Given the description of an element on the screen output the (x, y) to click on. 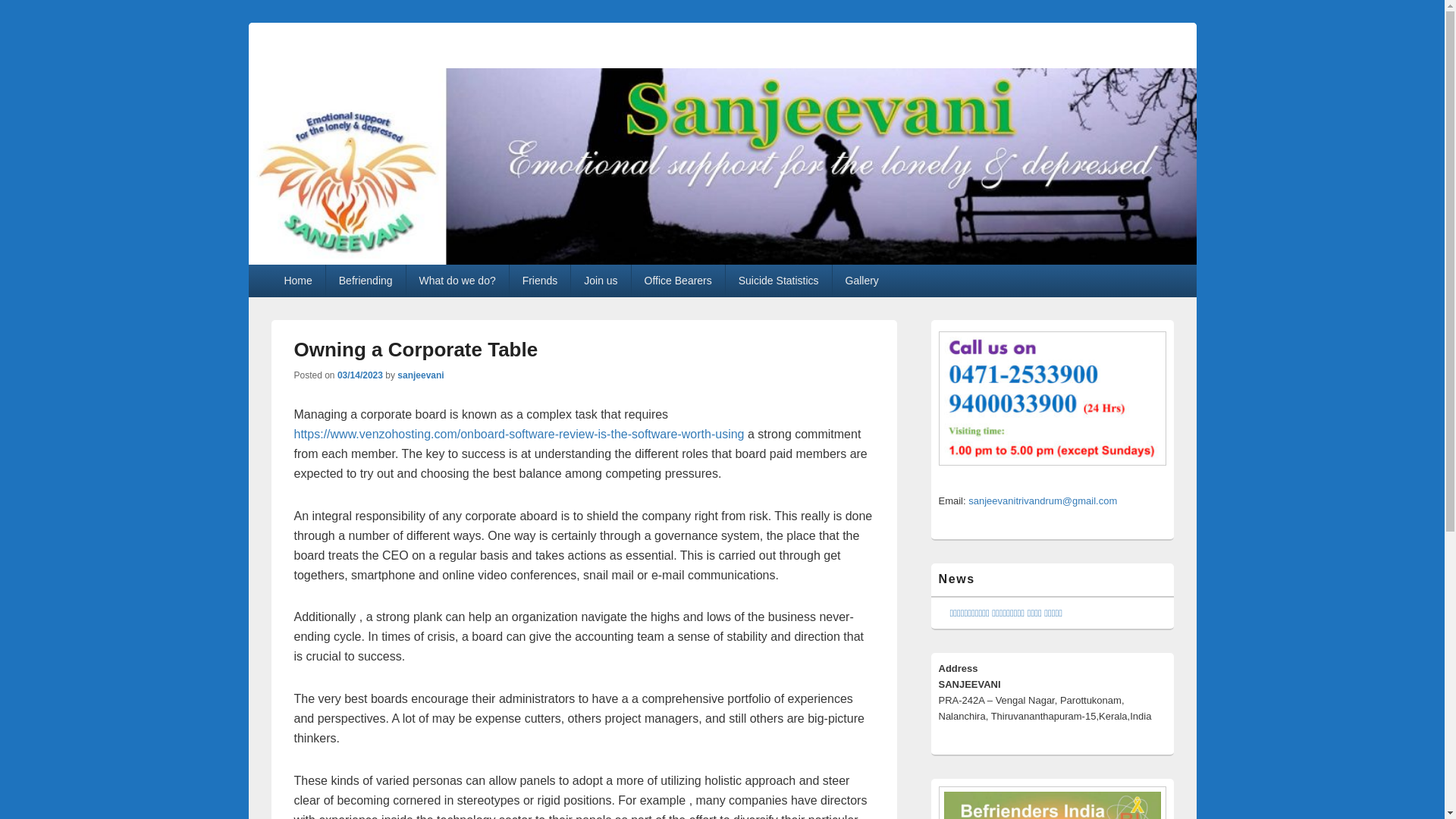
Befriending (366, 280)
Office Bearers (678, 280)
Join us (600, 280)
What do we do? (457, 280)
Sanjeevani (722, 259)
12:00 AM (359, 375)
Suicide Statistics (778, 280)
View all posts by sanjeevani (420, 375)
Sanjeevani (341, 61)
Gallery (861, 280)
Friends (539, 280)
Home (297, 280)
sanjeevani (420, 375)
